Given the description of an element on the screen output the (x, y) to click on. 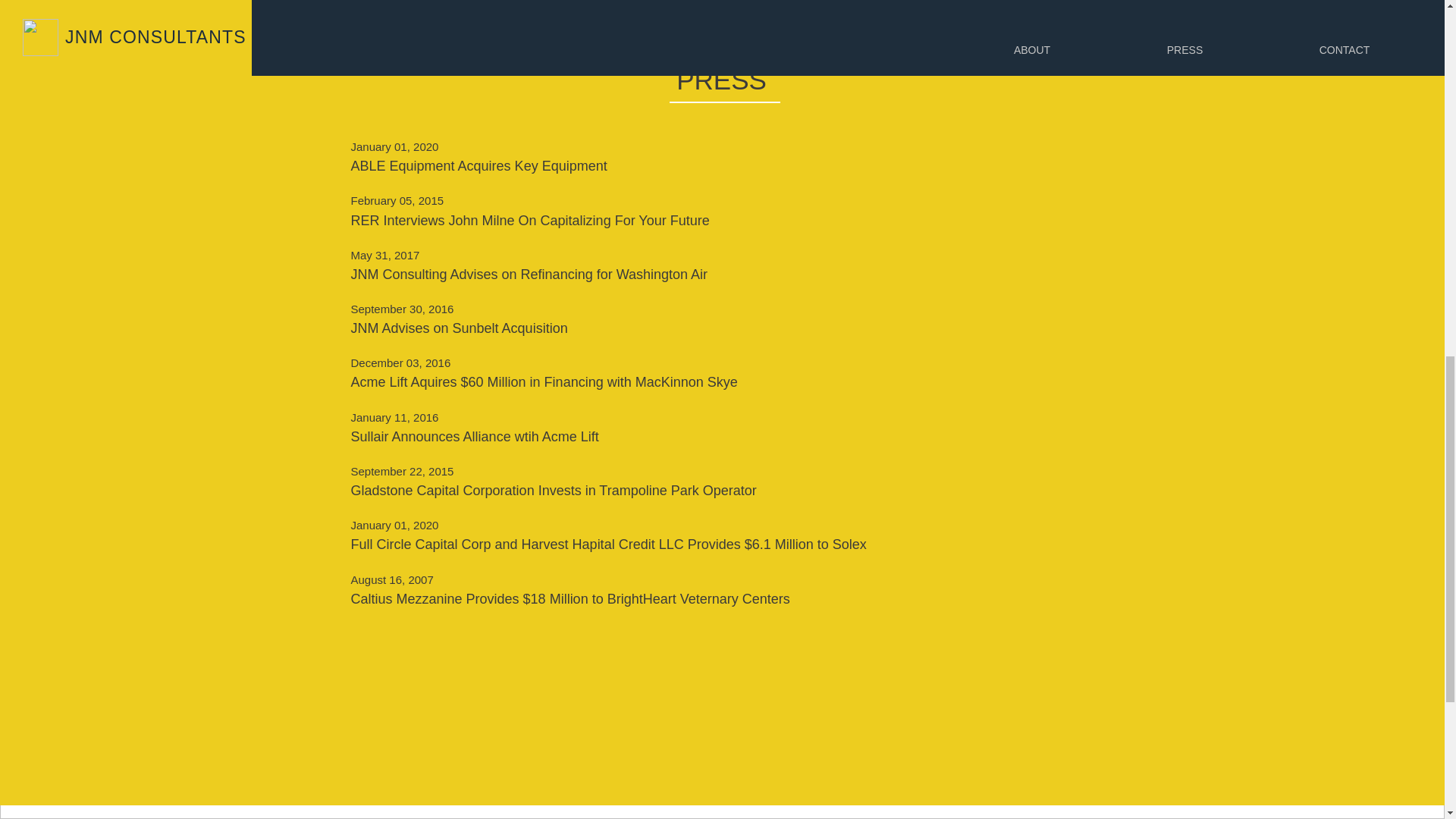
JNM Advises on Sunbelt Acquisition (873, 328)
ABLE Equipment Acquires Key Equipment (873, 166)
August 16, 2007 (873, 579)
Sullair Announces Alliance wtih Acme Lift (873, 437)
JNM Consulting Advises on Refinancing for Washington Air (873, 274)
RER Interviews John Milne On Capitalizing For Your Future (873, 220)
